Given the description of an element on the screen output the (x, y) to click on. 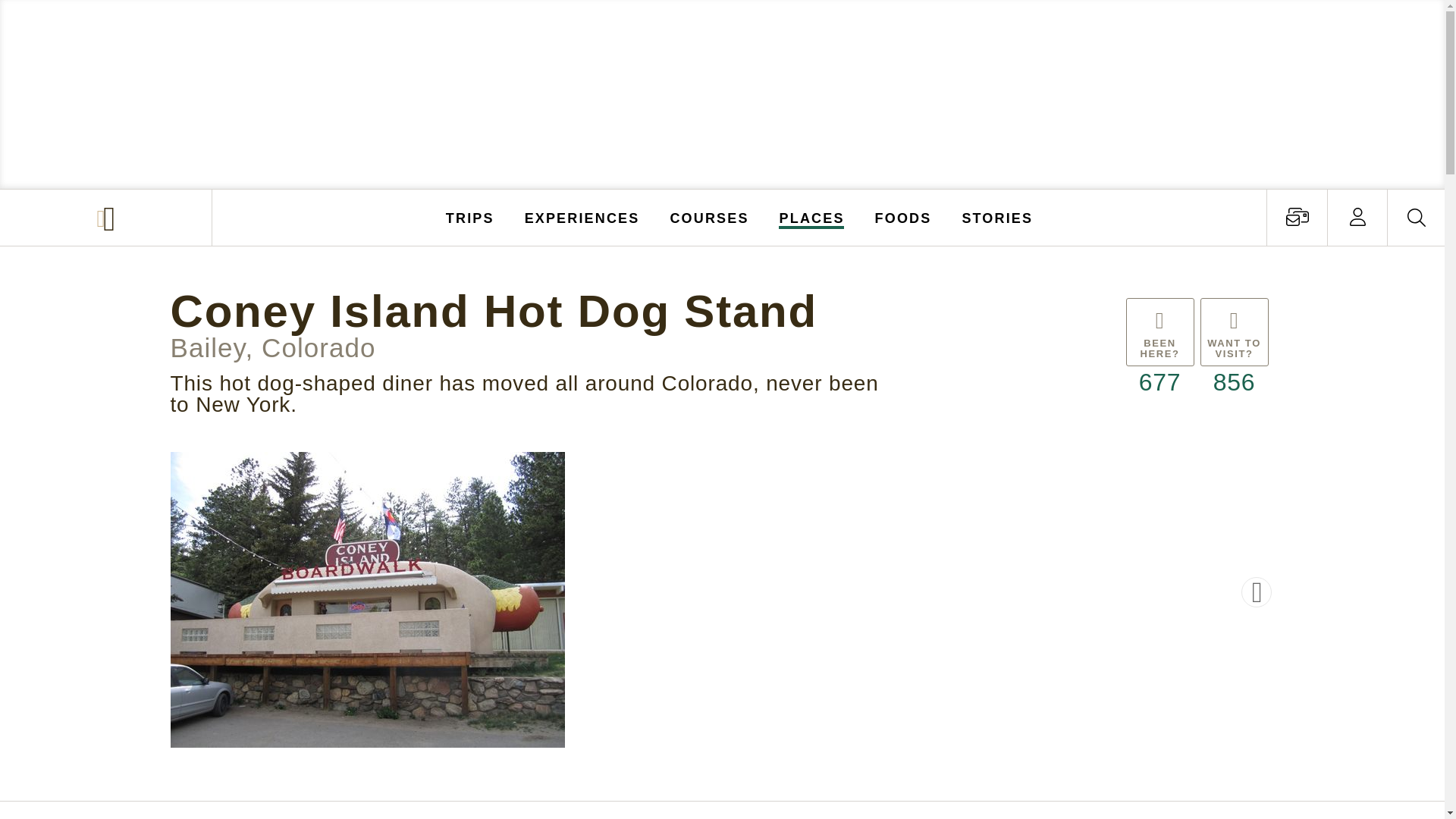
PLACES (812, 217)
TRIPS (469, 217)
EXPERIENCES (582, 217)
COURSES (707, 217)
